Given the description of an element on the screen output the (x, y) to click on. 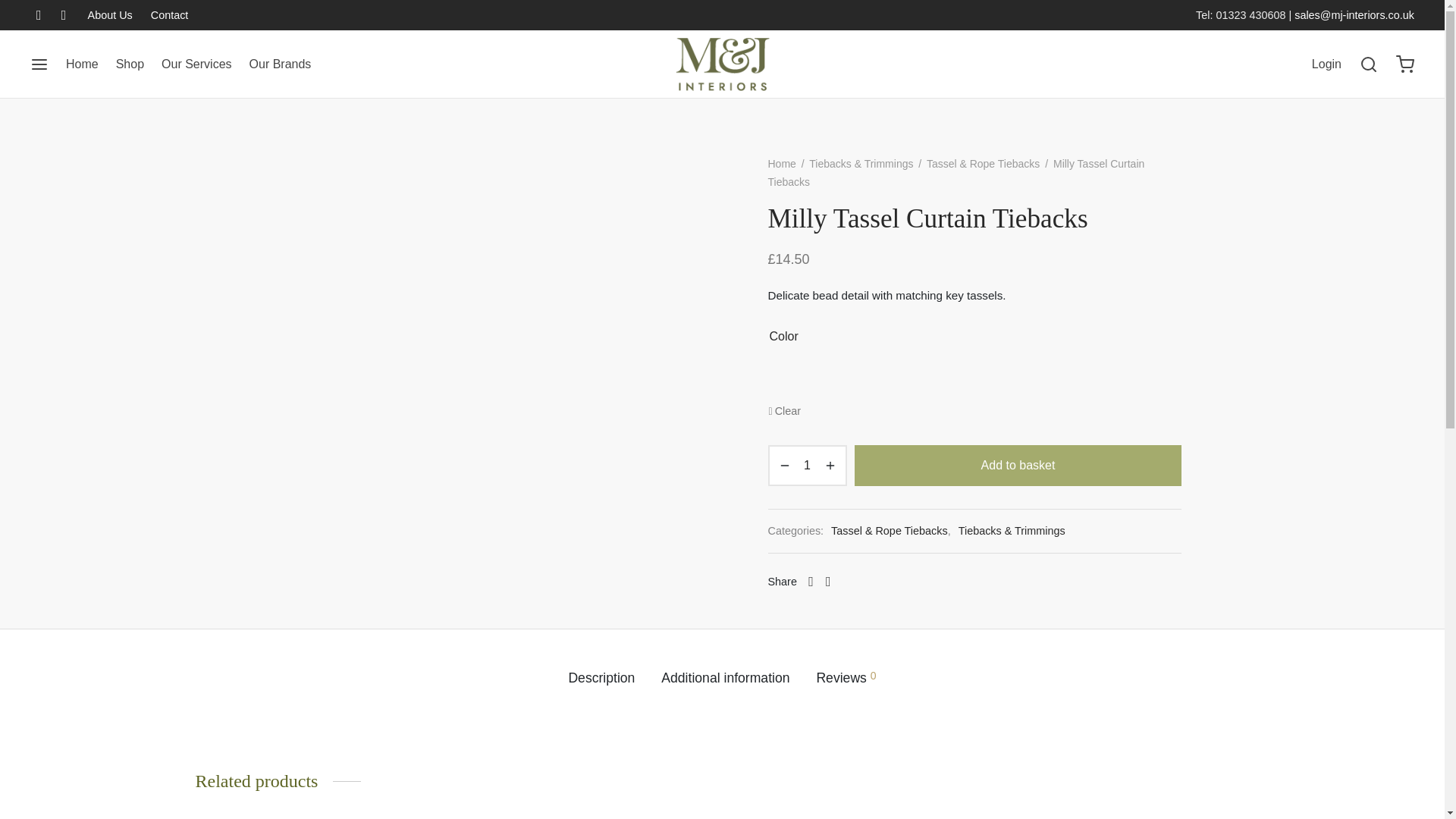
Shop (130, 64)
Gold (920, 378)
Purple (1007, 378)
Home (82, 64)
Black (831, 378)
Beige (787, 378)
1 (807, 465)
Silver (1051, 378)
About Us (113, 14)
Wine (1096, 378)
Cream (876, 378)
Orange (963, 378)
Our Services (196, 64)
Contact (165, 14)
